Given the description of an element on the screen output the (x, y) to click on. 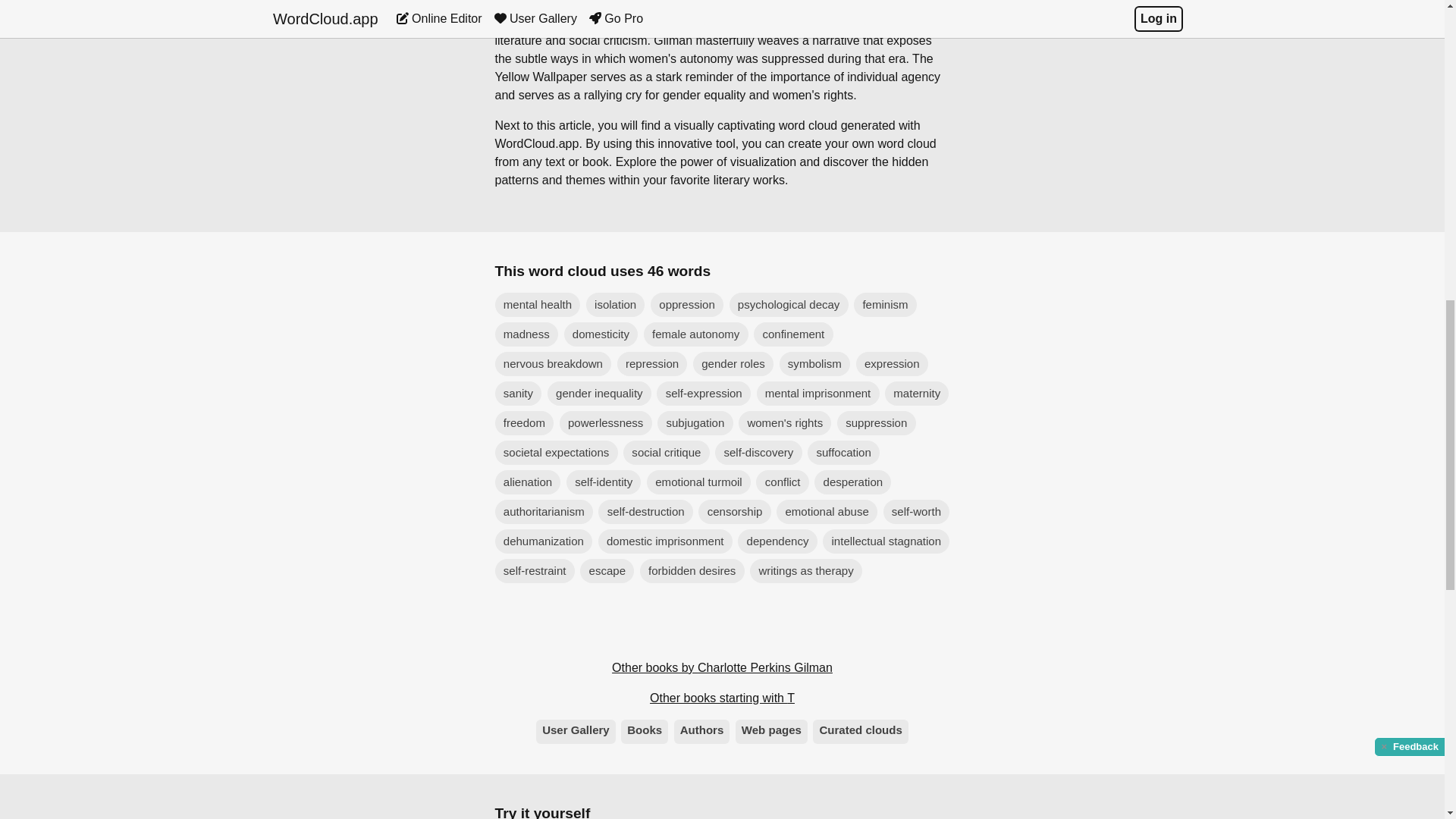
Authors (702, 731)
Other books starting with T (721, 698)
Web pages (771, 731)
Curated clouds (859, 731)
Books (644, 731)
Other books by Charlotte Perkins Gilman (721, 668)
User Gallery (575, 731)
